Given the description of an element on the screen output the (x, y) to click on. 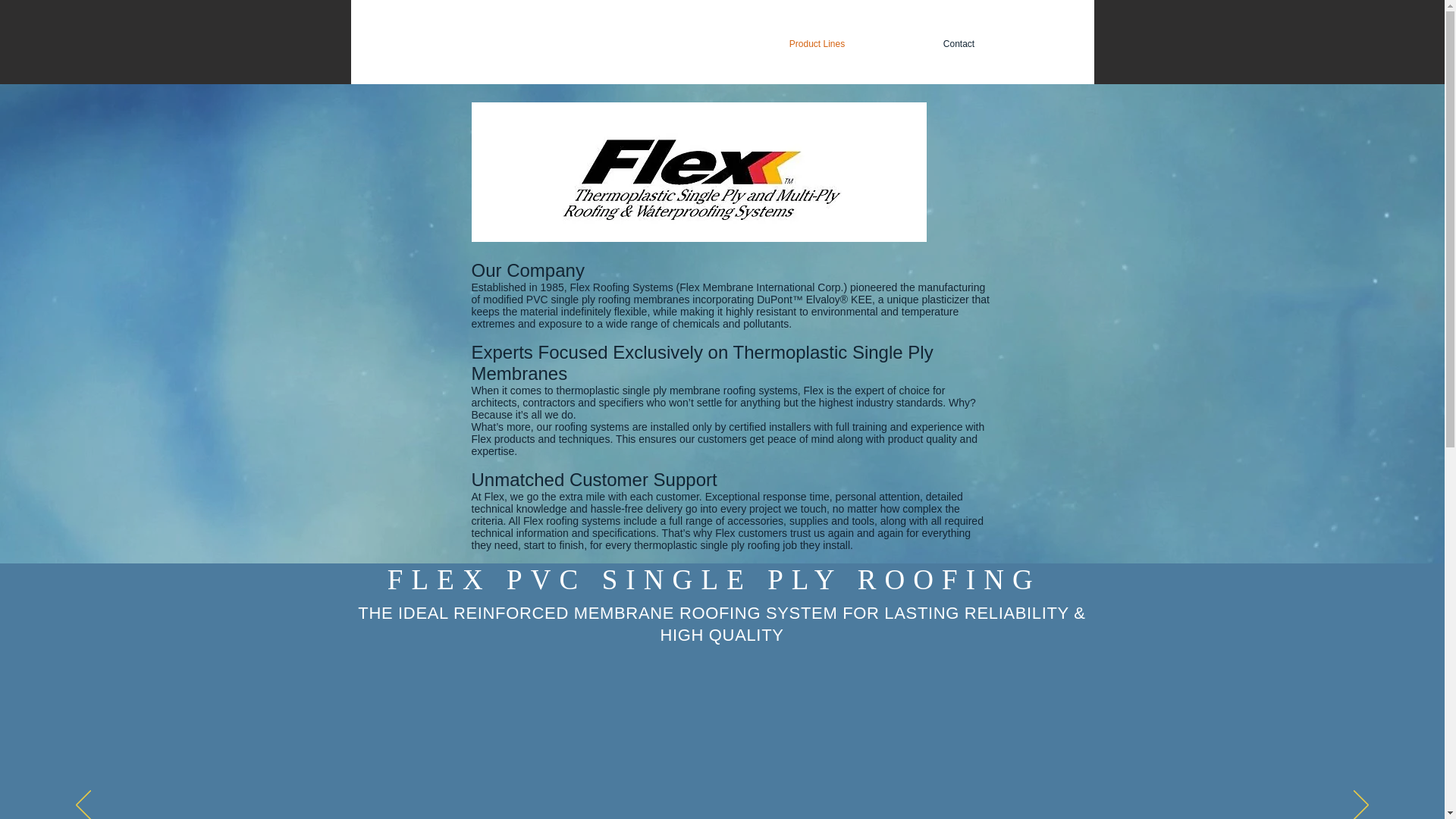
Product Lines (817, 44)
Contact (959, 44)
